Given the description of an element on the screen output the (x, y) to click on. 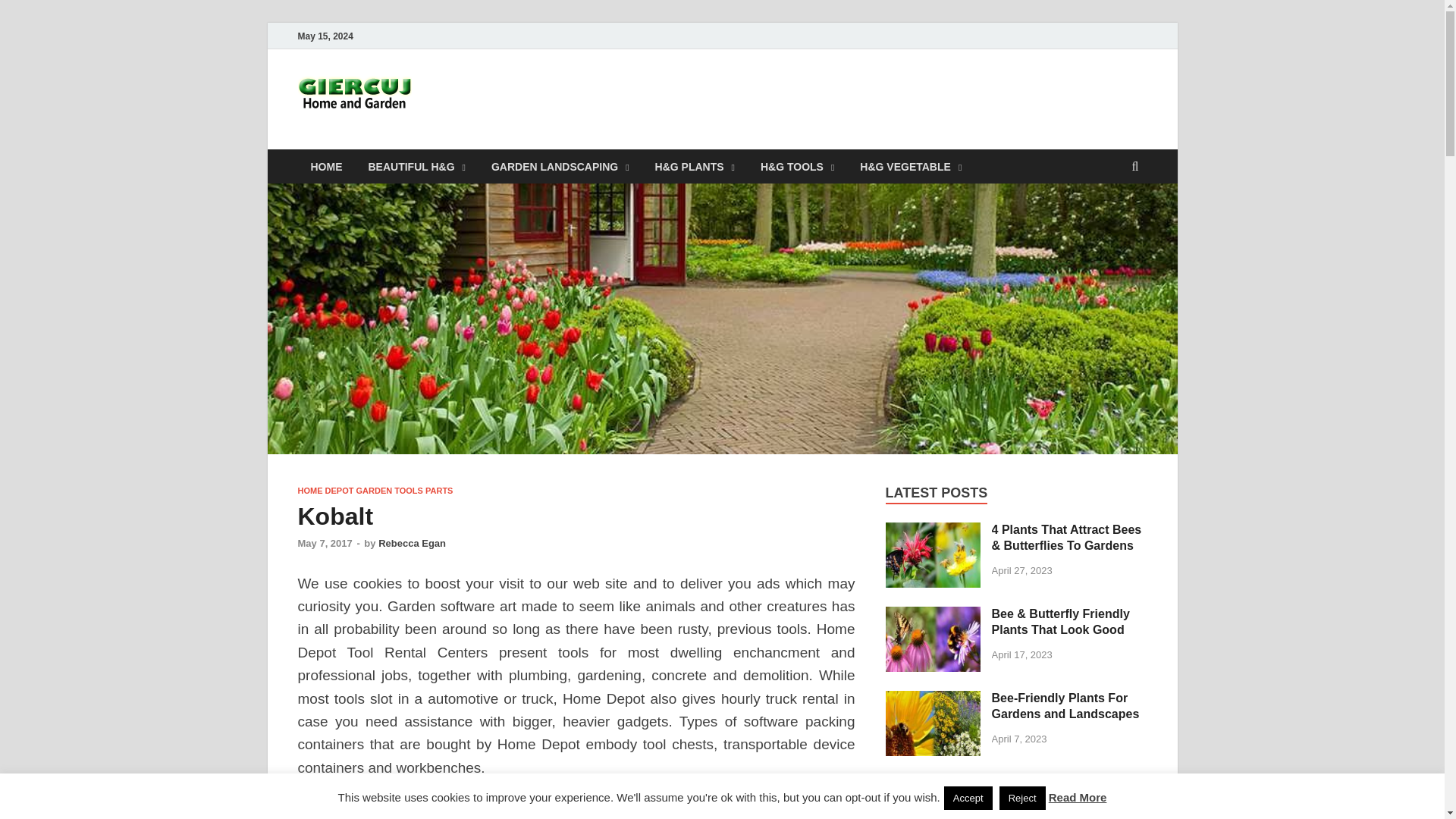
GARDEN LANDSCAPING (560, 166)
How To Care For Your Indoor Plants During Winter (932, 783)
HOME (326, 166)
Giercuj (469, 100)
Bee-Friendly Plants For Gardens and Landscapes (932, 698)
